Given the description of an element on the screen output the (x, y) to click on. 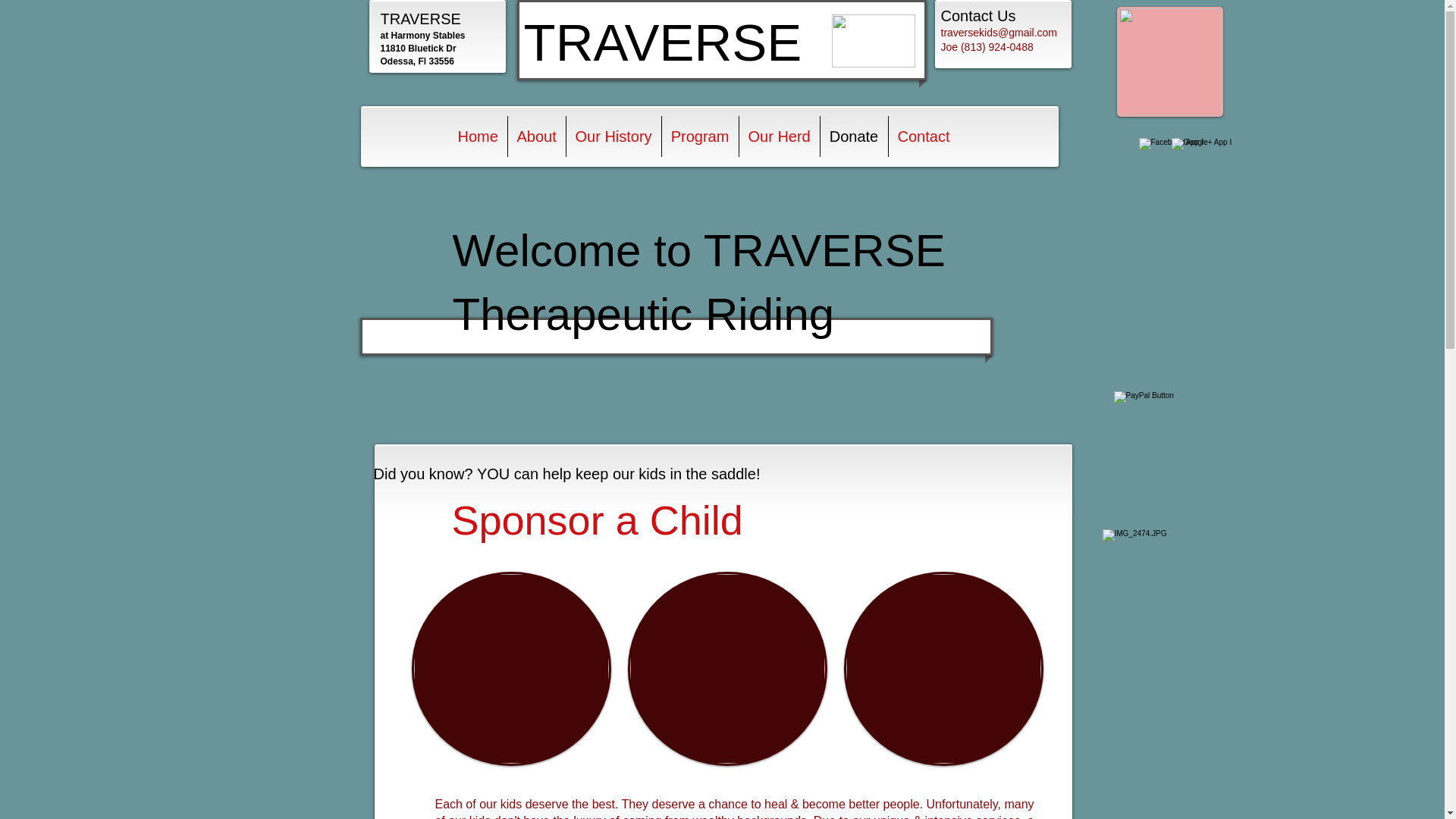
Home (477, 136)
Contact (923, 136)
Our History (613, 136)
About (537, 136)
Our Herd (778, 136)
Program (699, 136)
Facebook Like (1128, 437)
Donate (854, 136)
